Given the description of an element on the screen output the (x, y) to click on. 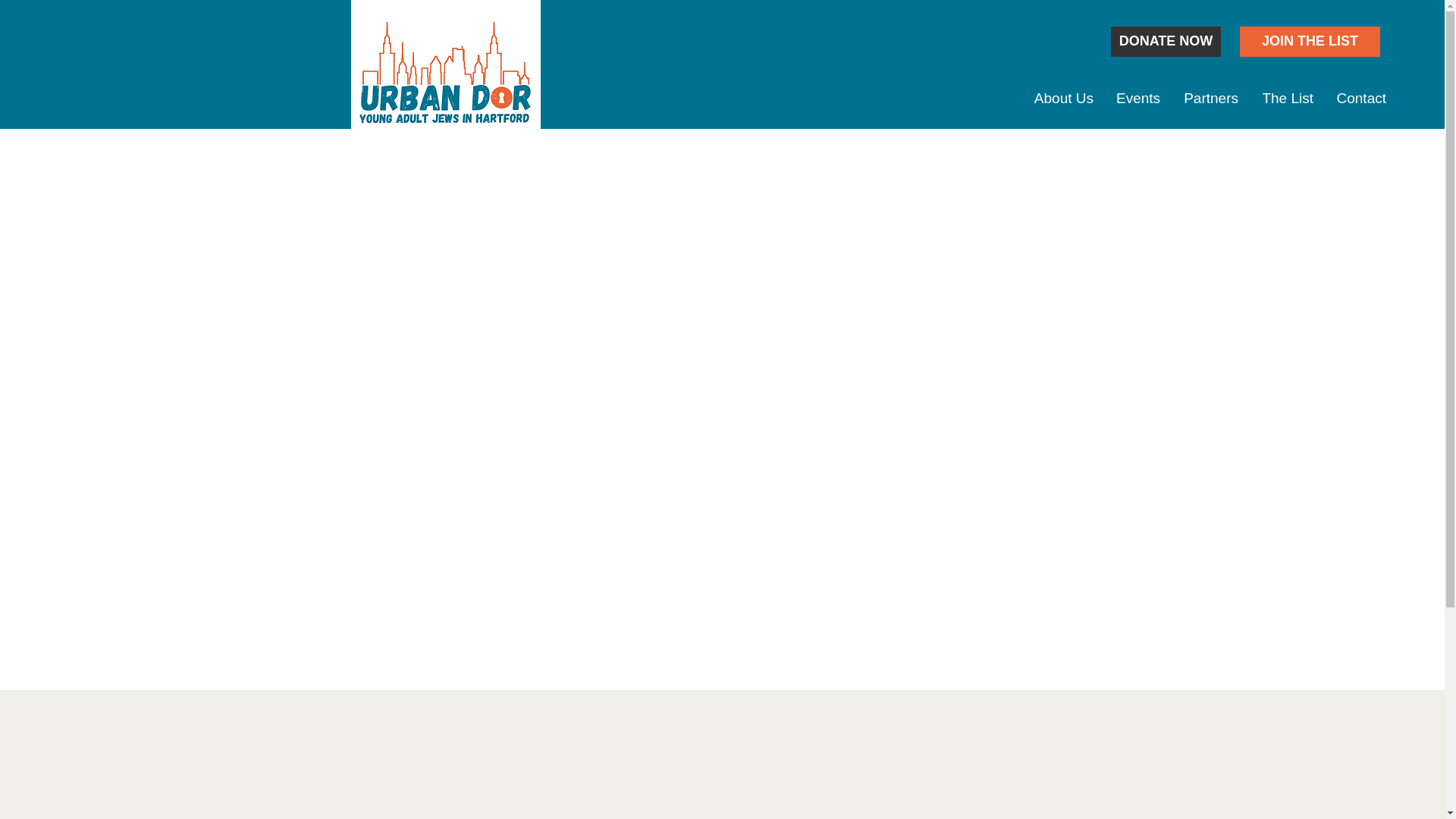
Events (1138, 97)
Partners (1210, 97)
DONATE NOW (1165, 41)
The List (1286, 97)
JOIN THE LIST (1310, 41)
Contact (1360, 97)
